Given the description of an element on the screen output the (x, y) to click on. 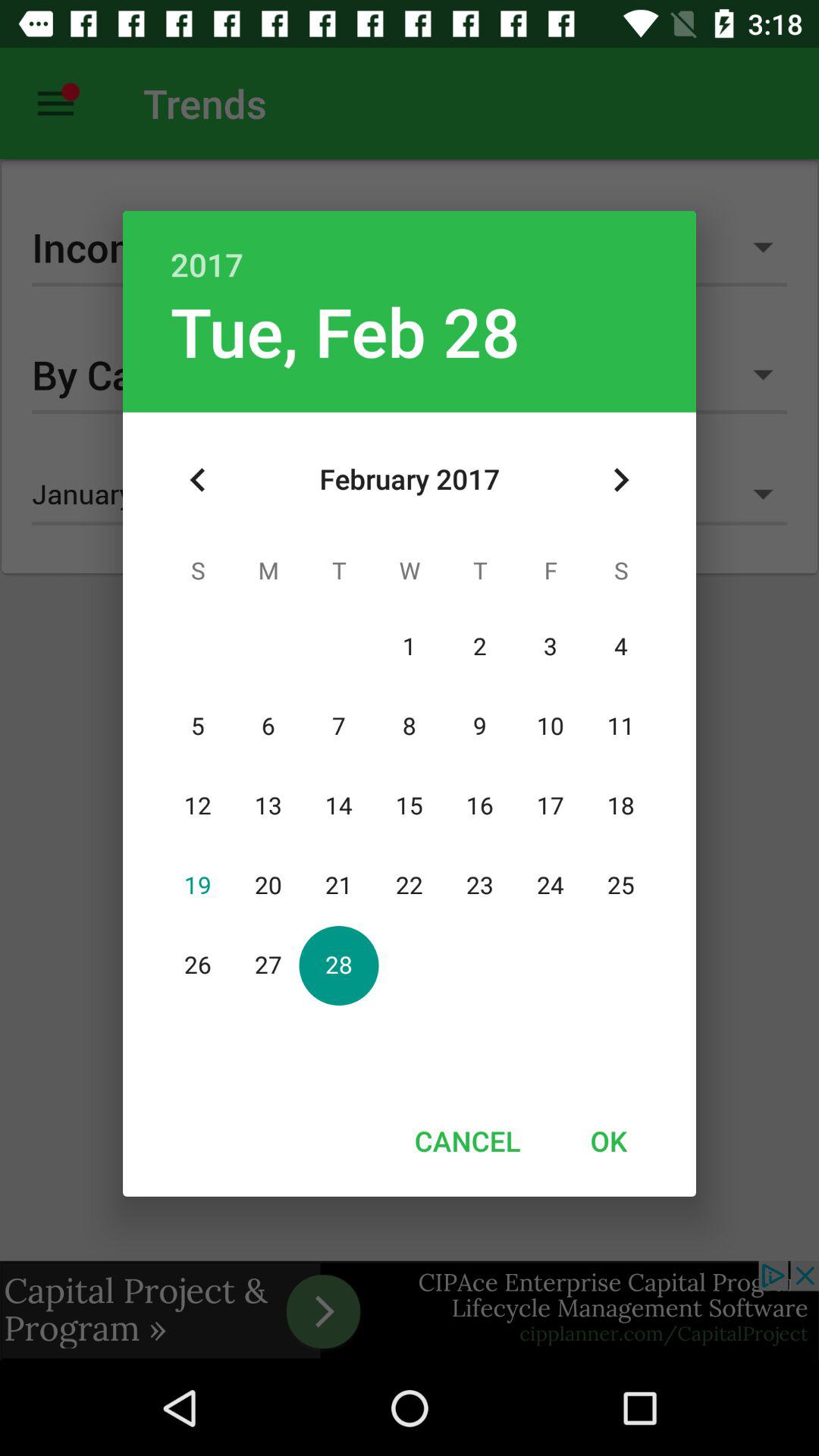
open the icon at the bottom right corner (608, 1140)
